Given the description of an element on the screen output the (x, y) to click on. 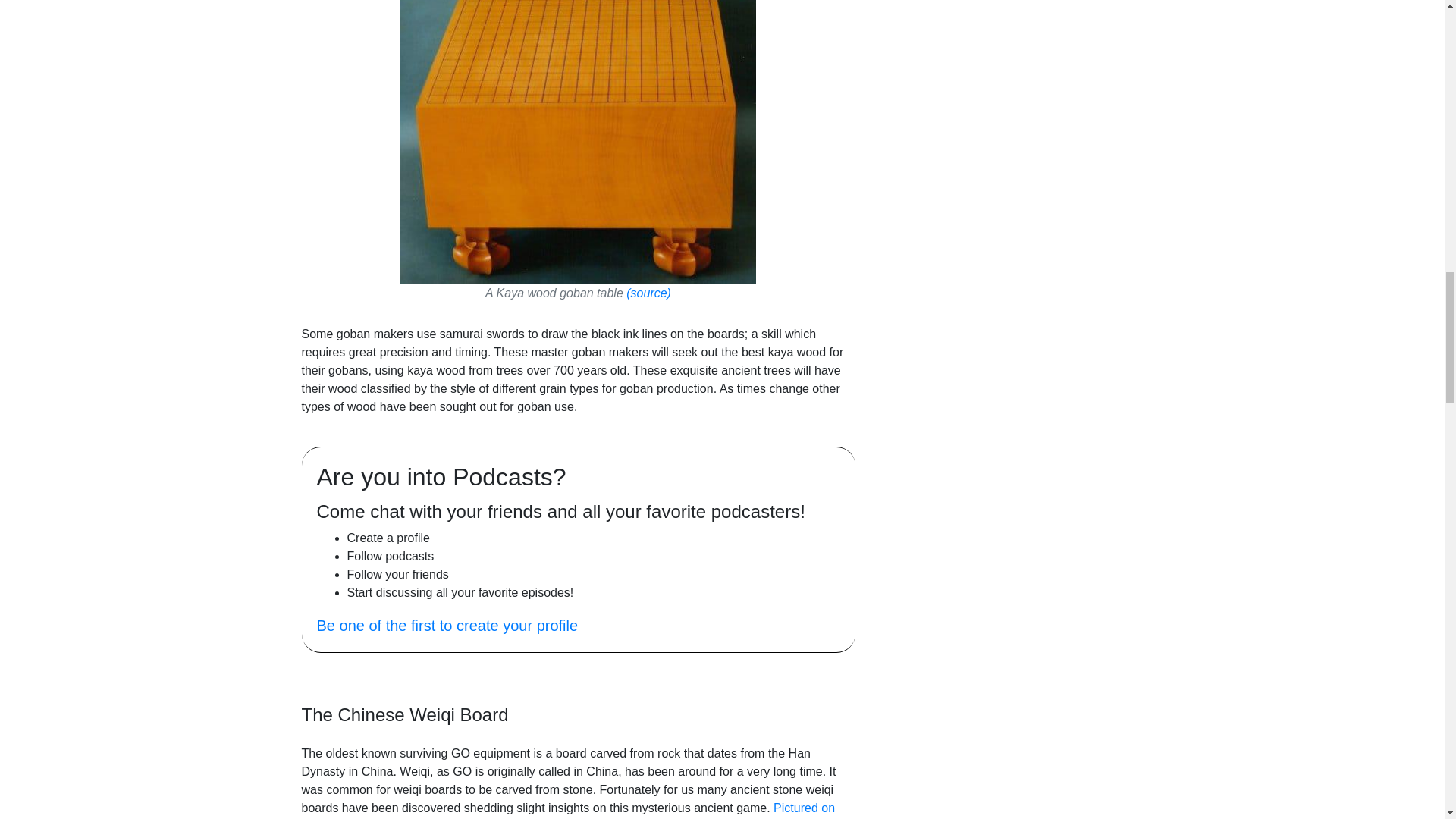
Pictured on the left (568, 810)
Be one of the first to create your profile (447, 625)
